Given the description of an element on the screen output the (x, y) to click on. 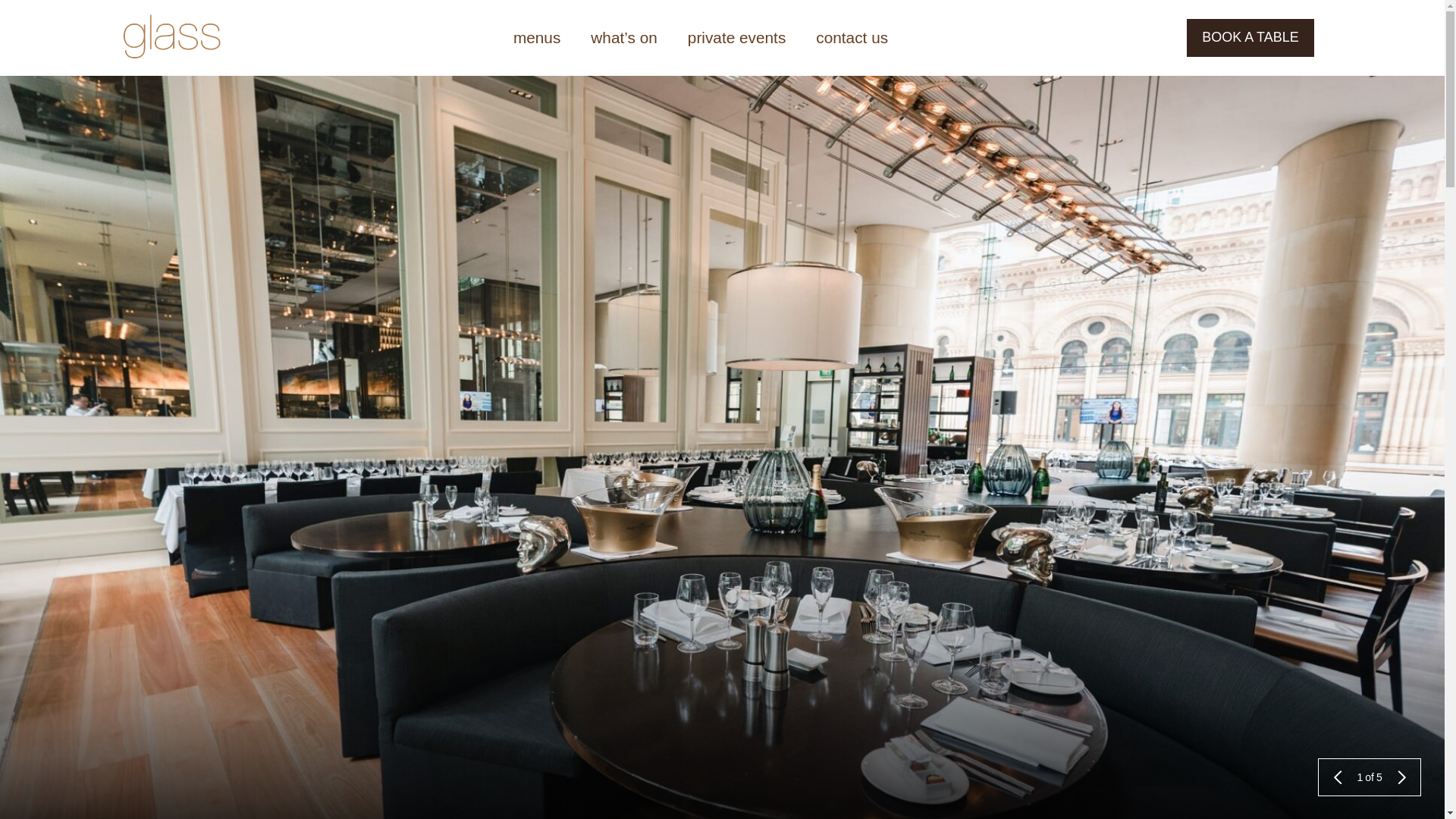
menus Element type: text (536, 37)
BOOK A TABLE Element type: text (1249, 37)
private events Element type: text (736, 37)
Go to glass brasserie home page Element type: hover (171, 37)
contact us Element type: text (851, 37)
